Given the description of an element on the screen output the (x, y) to click on. 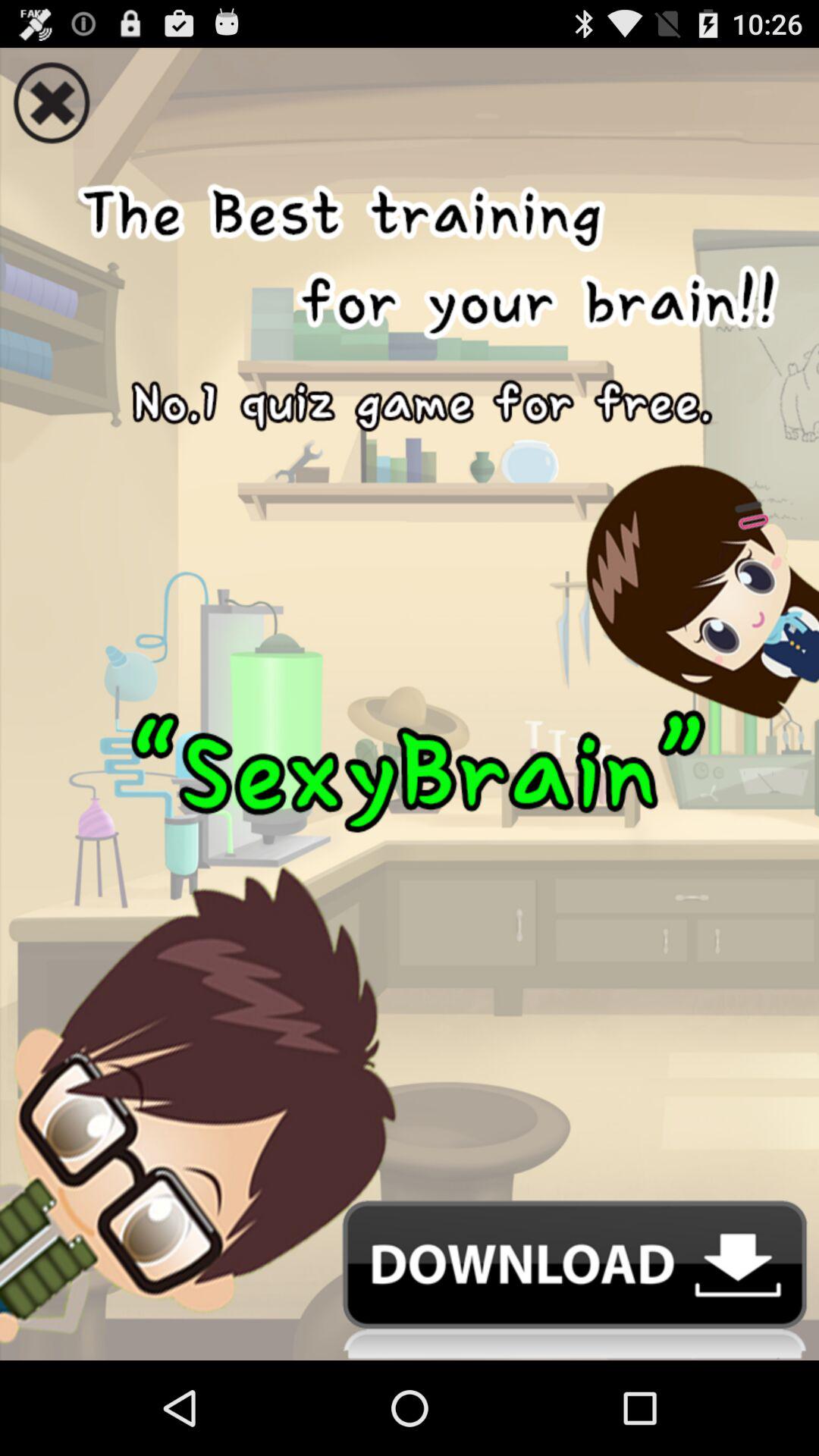
open icon at the top (409, 97)
